Given the description of an element on the screen output the (x, y) to click on. 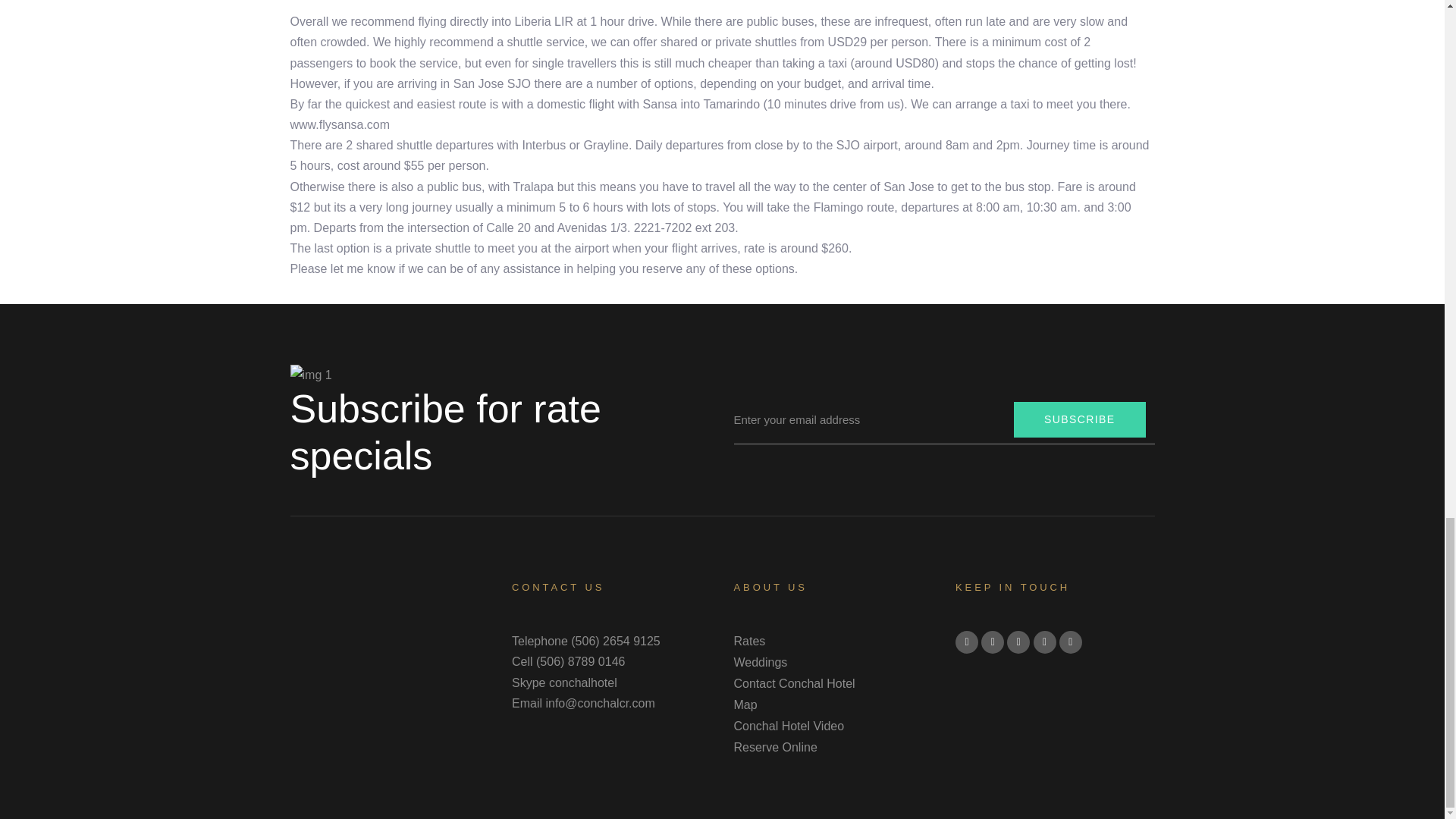
Reserve Online (833, 747)
Map (833, 704)
logo conchal2 (389, 603)
Conchal Hotel Video (833, 726)
Contact Conchal Hotel (833, 683)
Weddings (833, 662)
img 1 (310, 374)
SUBSCRIBE (1079, 419)
Rates (833, 640)
